Given the description of an element on the screen output the (x, y) to click on. 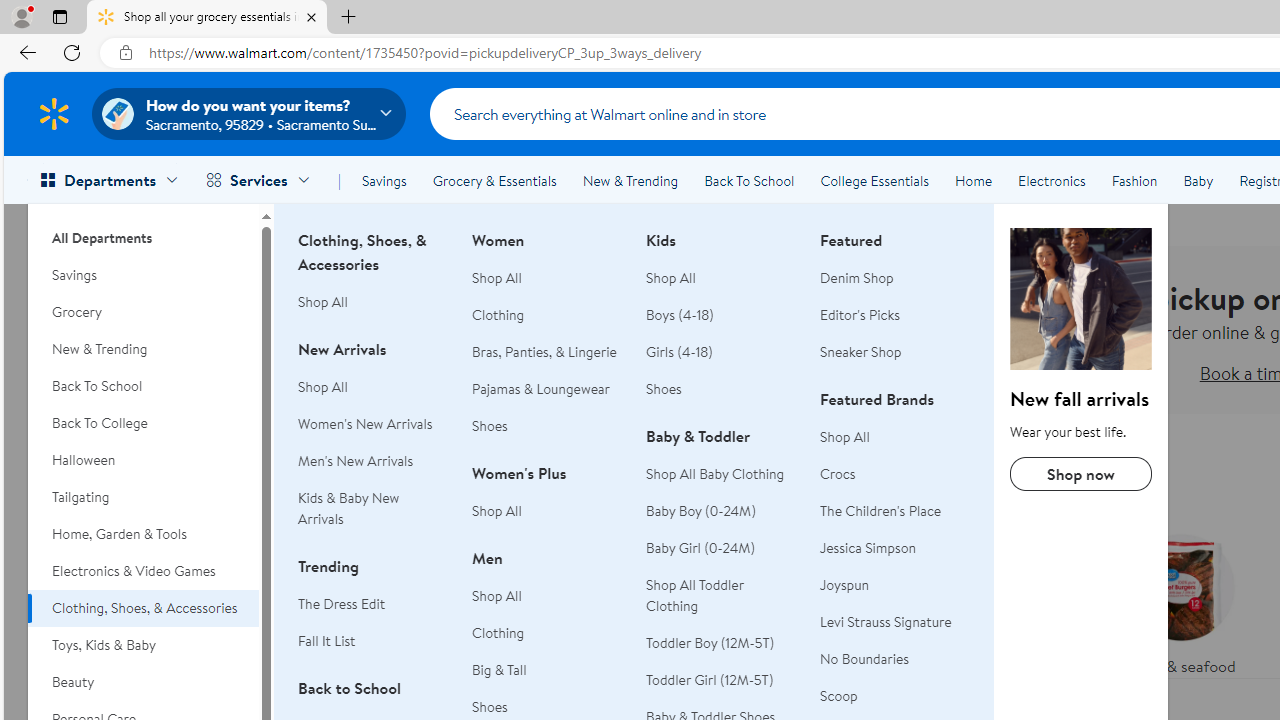
Fresh Food (792, 569)
Jessica Simpson (868, 547)
College Essentials (874, 180)
Grocery & Essentials (493, 180)
Editor's Picks (895, 315)
TrendingThe Dress EditFall It List (373, 614)
Shop All Toddler Clothing (694, 595)
Toys, Kids & Baby (143, 645)
FeaturedDenim ShopEditor's PicksSneaker Shop (895, 307)
Fashion (1134, 180)
No Boundaries (864, 658)
Shoes (721, 389)
New & Trending (630, 180)
